Given the description of an element on the screen output the (x, y) to click on. 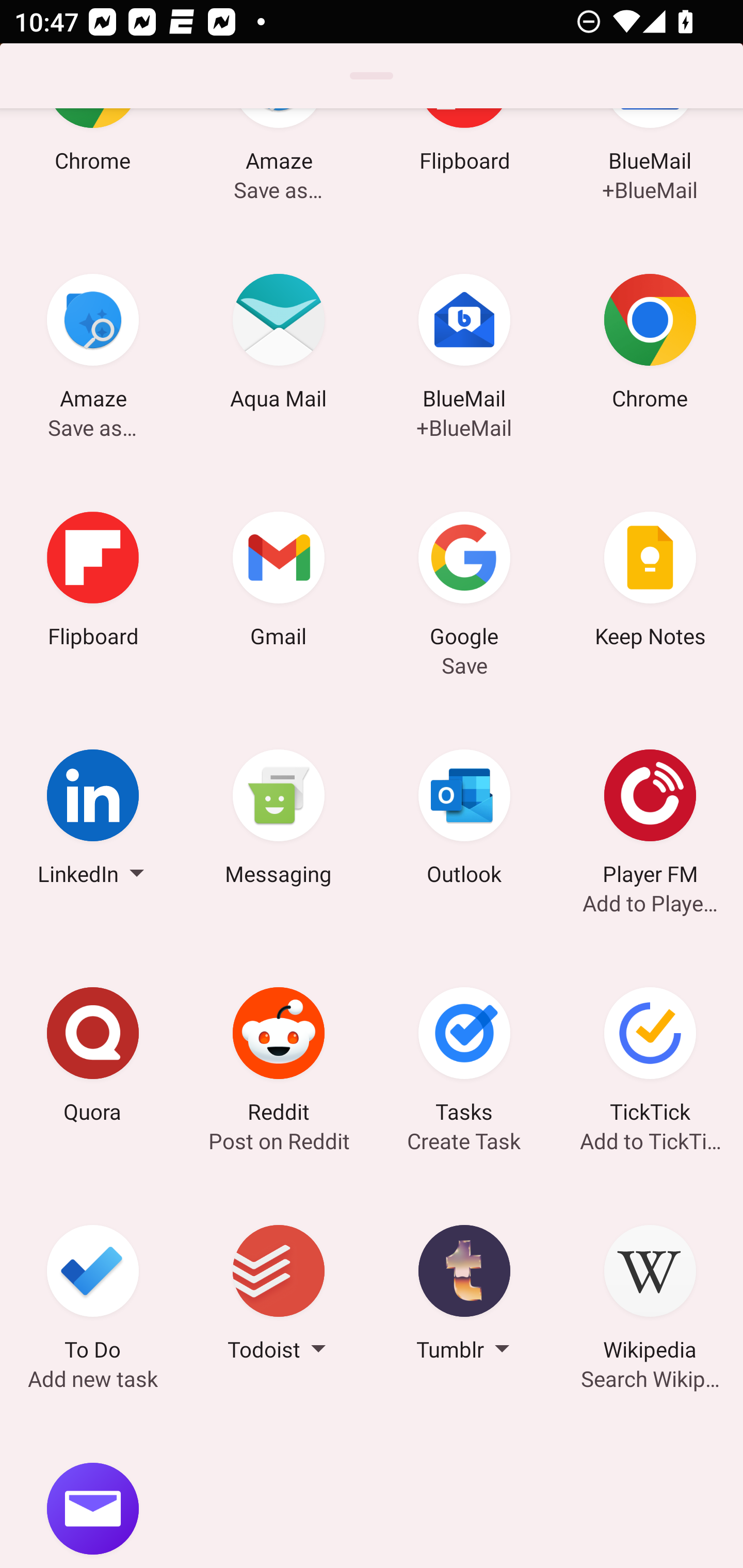
Chrome (92, 166)
Amaze Save as… (278, 166)
Flipboard (464, 166)
BlueMail +BlueMail (650, 166)
Amaze Save as… (92, 344)
Aqua Mail (278, 344)
BlueMail +BlueMail (464, 344)
Chrome (650, 344)
Flipboard (92, 582)
Gmail (278, 582)
Google Save (464, 582)
Keep Notes (650, 582)
LinkedIn (92, 819)
Messaging (278, 819)
Outlook (464, 819)
Player FM Add to Player FM (650, 819)
Quora (92, 1058)
Reddit Post on Reddit (278, 1058)
Tasks Create Task (464, 1058)
TickTick Add to TickTick (650, 1058)
To Do Add new task (92, 1295)
Todoist (278, 1295)
Tumblr (464, 1295)
Wikipedia Search Wikipedia (650, 1295)
